Given the description of an element on the screen output the (x, y) to click on. 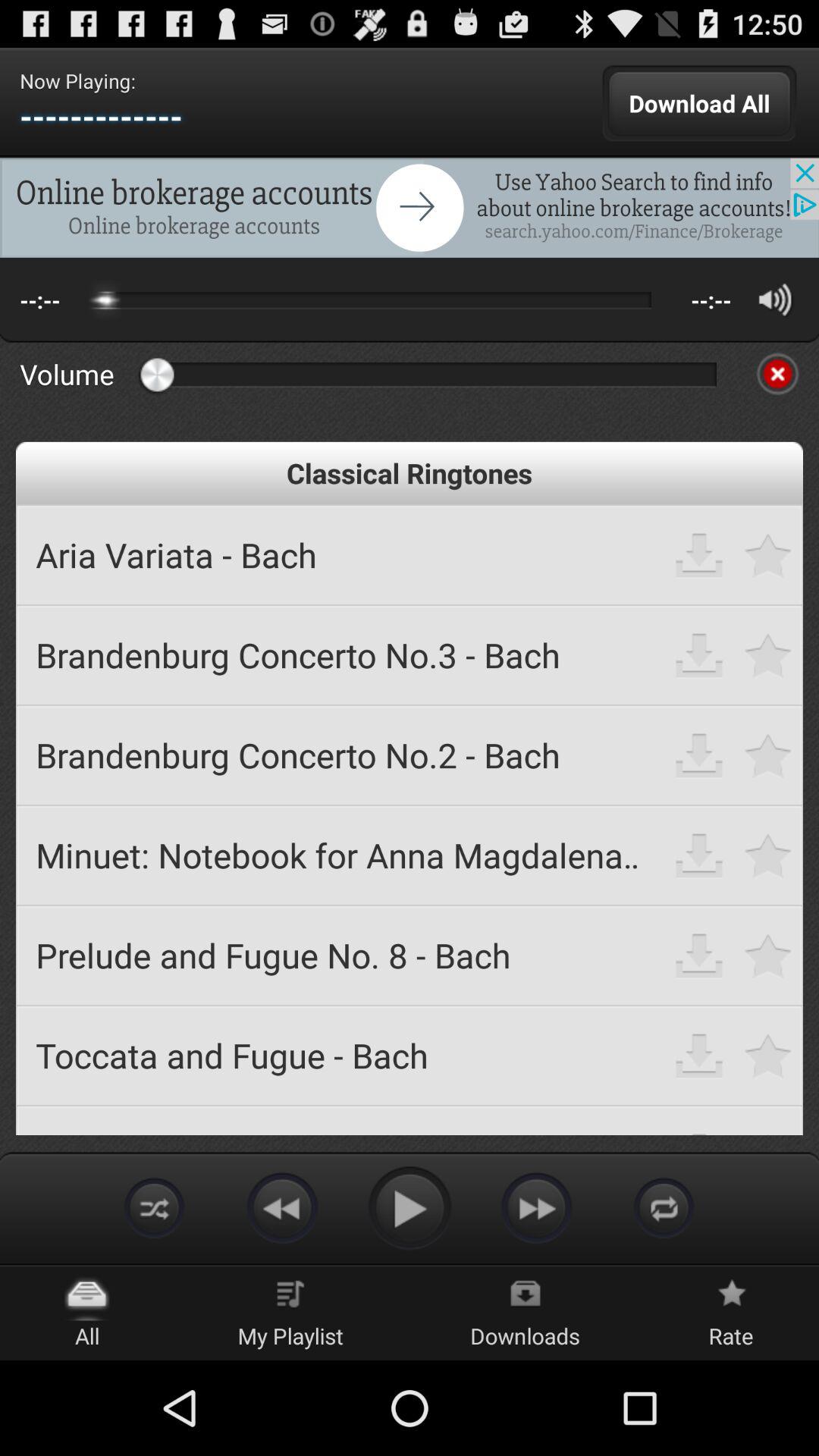
go forward (536, 1207)
